Given the description of an element on the screen output the (x, y) to click on. 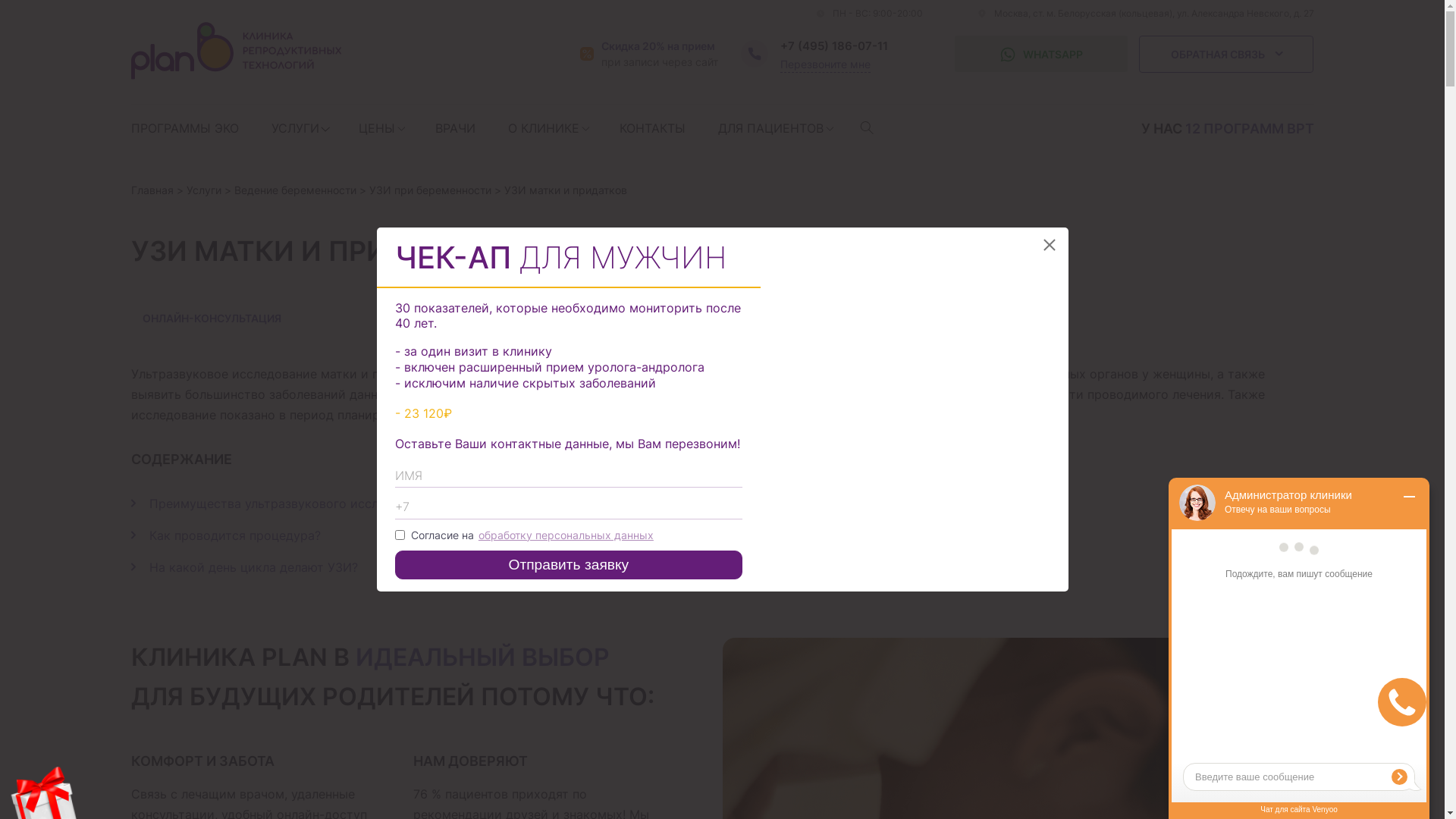
+7 (495) 186-07-11 Element type: text (834, 44)
WHATSAPP Element type: text (1040, 53)
Calltouch Widget Element type: hover (1401, 701)
